Given the description of an element on the screen output the (x, y) to click on. 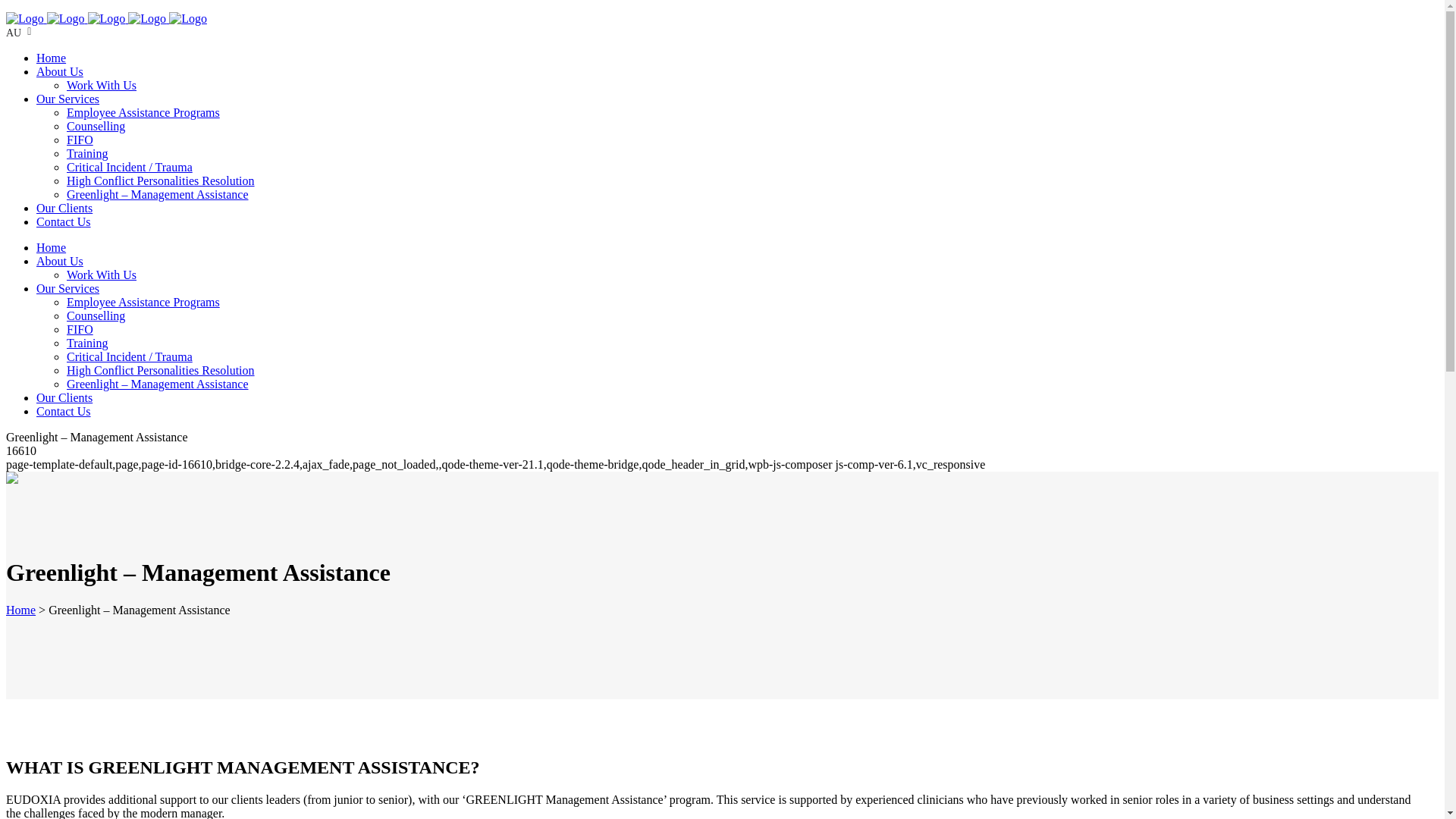
FIFO (79, 328)
Employee Assistance Programs (142, 112)
Work With Us (101, 274)
Home (50, 246)
Our Services (67, 98)
Home (19, 609)
About Us (59, 260)
Our Clients (64, 397)
Employee Assistance Programs (142, 301)
Work With Us (101, 84)
Counselling (95, 315)
Contact Us (63, 410)
Training (86, 153)
Home (50, 57)
FIFO (79, 139)
